Given the description of an element on the screen output the (x, y) to click on. 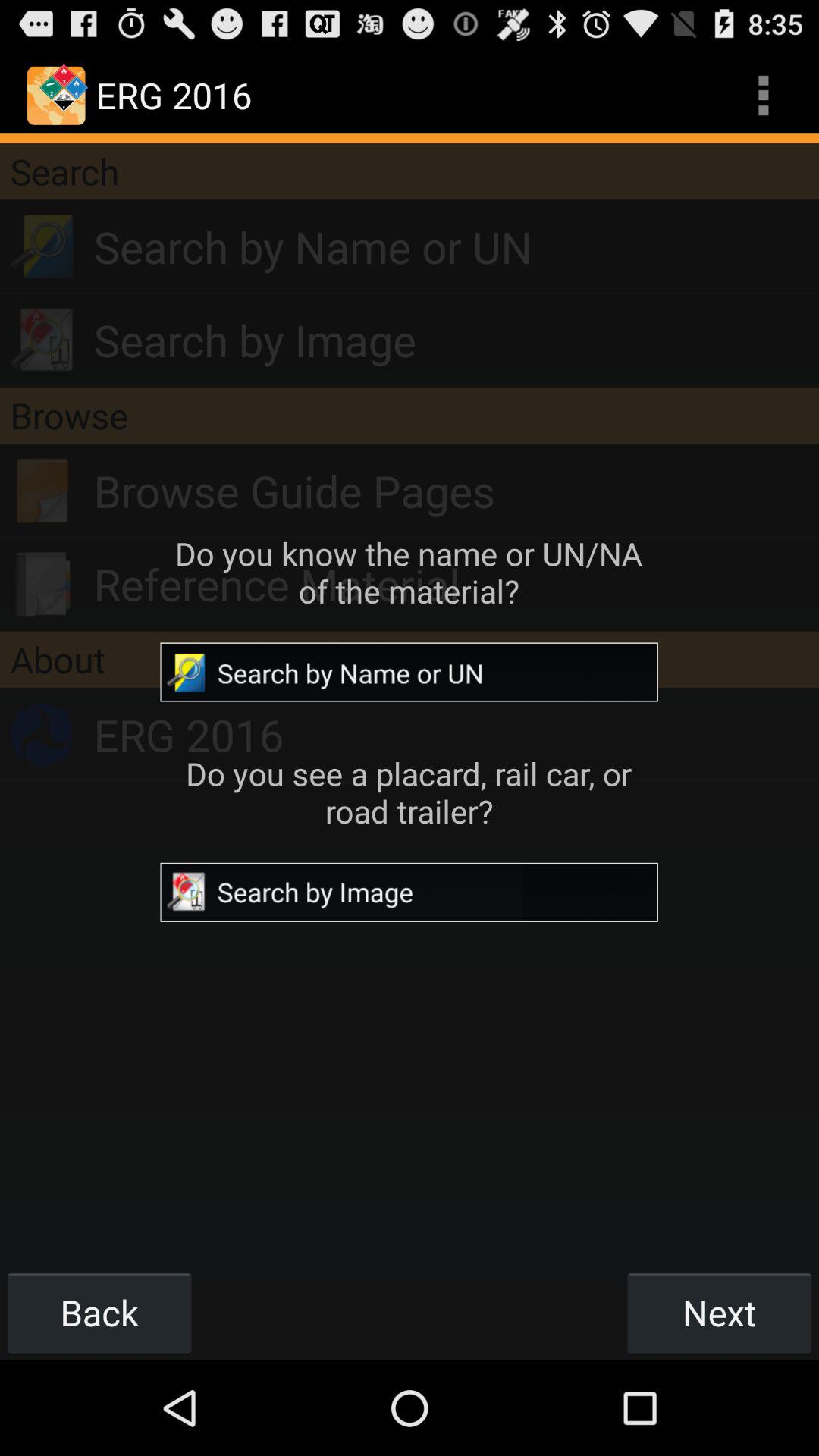
tap about icon (409, 659)
